Given the description of an element on the screen output the (x, y) to click on. 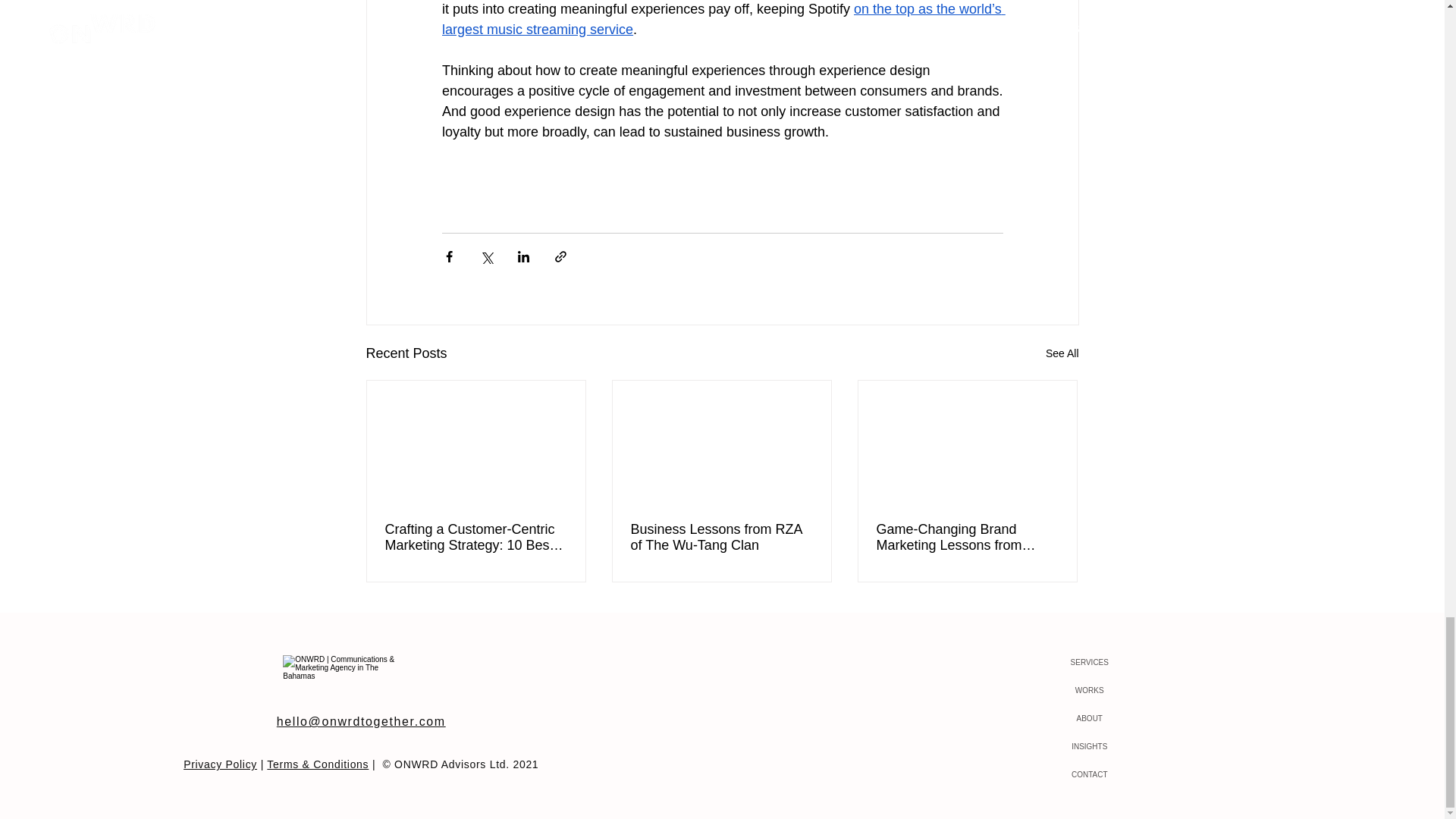
WORKS (1089, 690)
SERVICES (1089, 662)
Business Lessons from RZA of The Wu-Tang Clan (721, 537)
See All (1061, 353)
Privacy Policy (220, 764)
ABOUT (1089, 718)
